Given the description of an element on the screen output the (x, y) to click on. 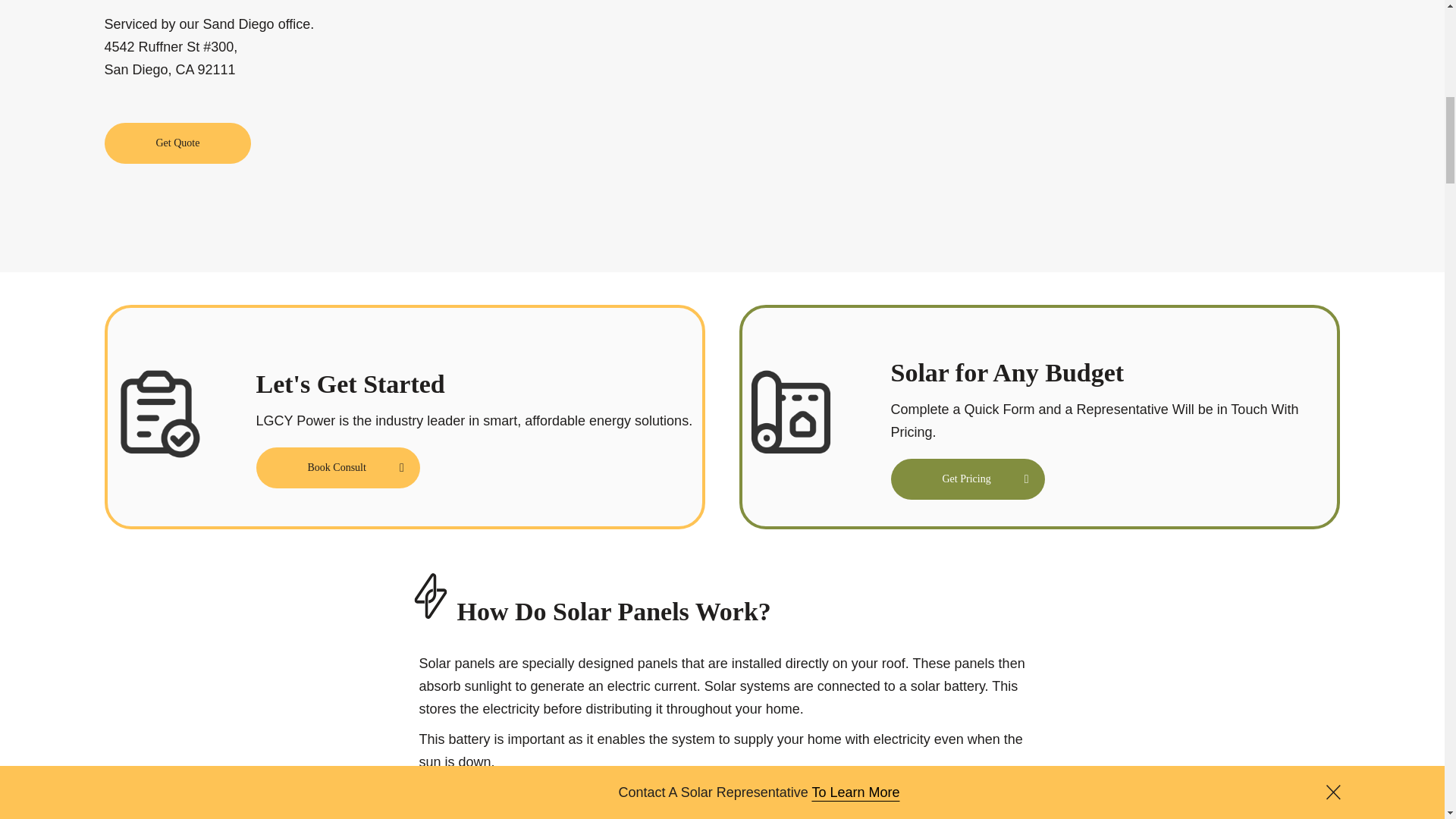
Get Solar Pricing (177, 142)
